Given the description of an element on the screen output the (x, y) to click on. 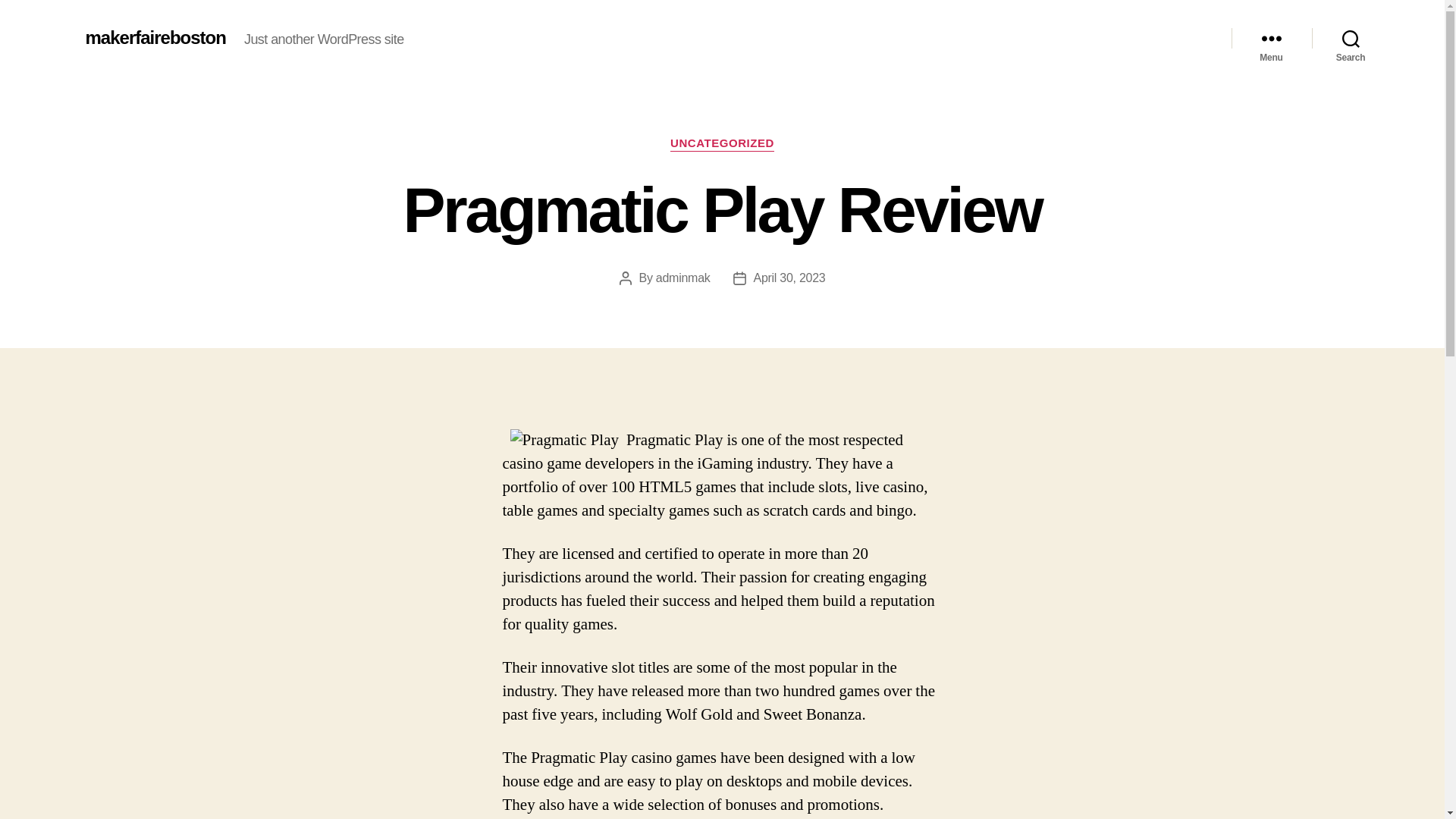
Menu (1271, 37)
adminmak (683, 277)
makerfaireboston (154, 37)
UNCATEGORIZED (721, 143)
April 30, 2023 (789, 277)
Search (1350, 37)
